Given the description of an element on the screen output the (x, y) to click on. 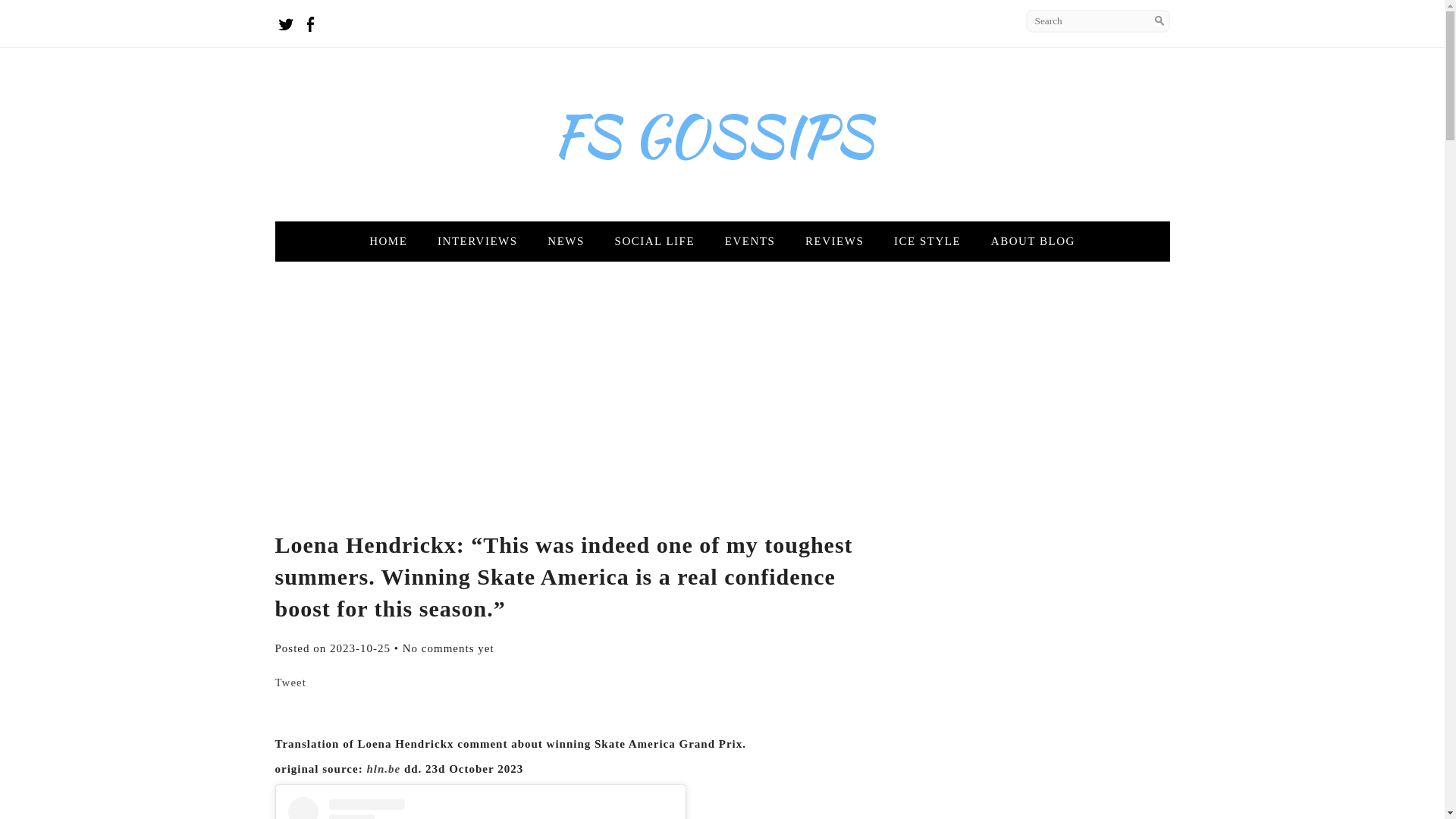
HOME (388, 241)
SOCIAL LIFE (655, 241)
NEWS (565, 241)
EVENTS (750, 241)
REVIEWS (834, 241)
INTERVIEWS (477, 241)
View this post on Instagram (480, 807)
ABOUT BLOG (1032, 241)
Tweet (290, 682)
ICE STYLE (927, 241)
hln.be (383, 768)
